Given the description of an element on the screen output the (x, y) to click on. 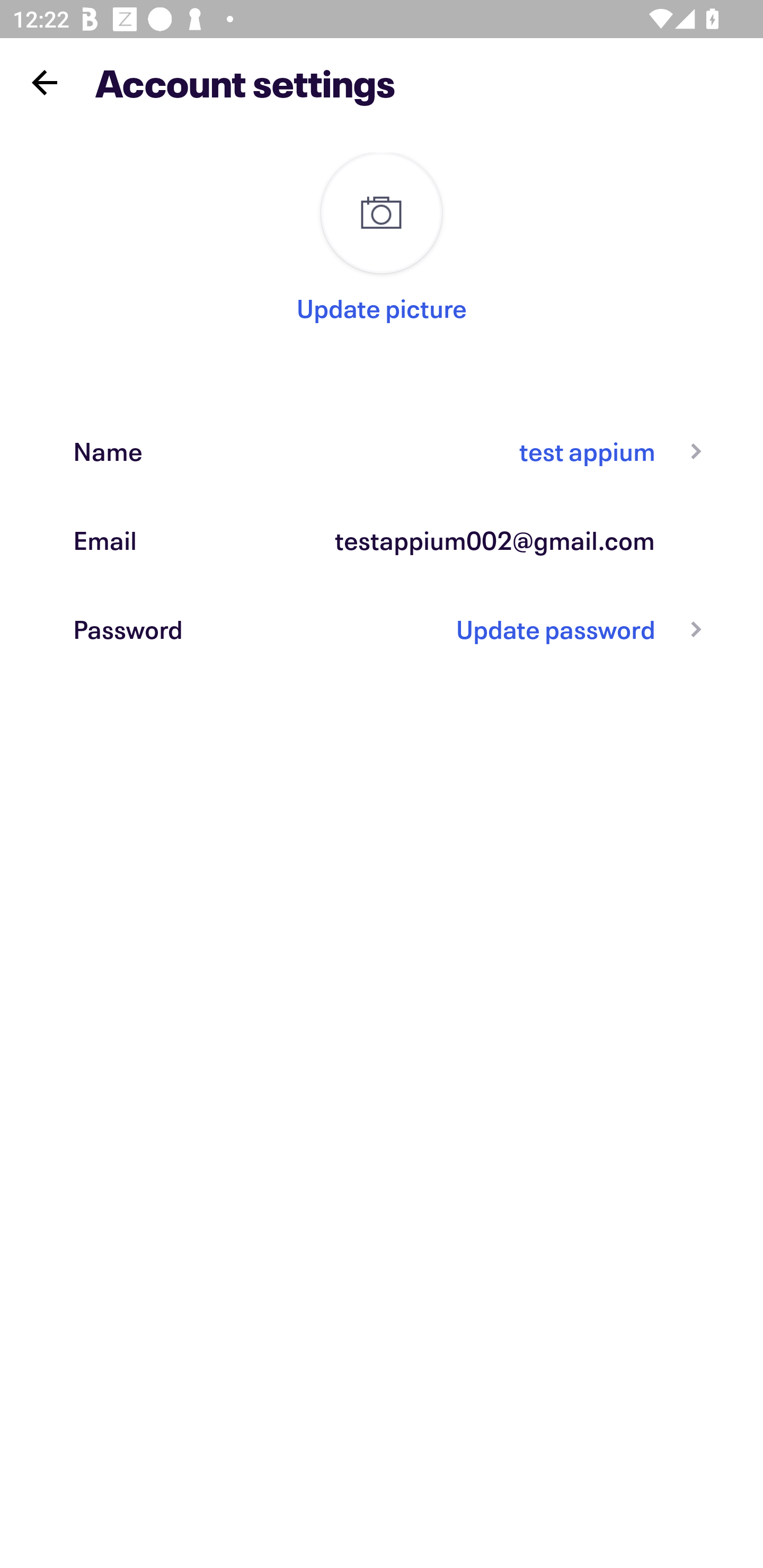
Navigate up (44, 82)
Update picture (381, 307)
Name test appium Image (381, 450)
Password Update password Image (381, 629)
